Given the description of an element on the screen output the (x, y) to click on. 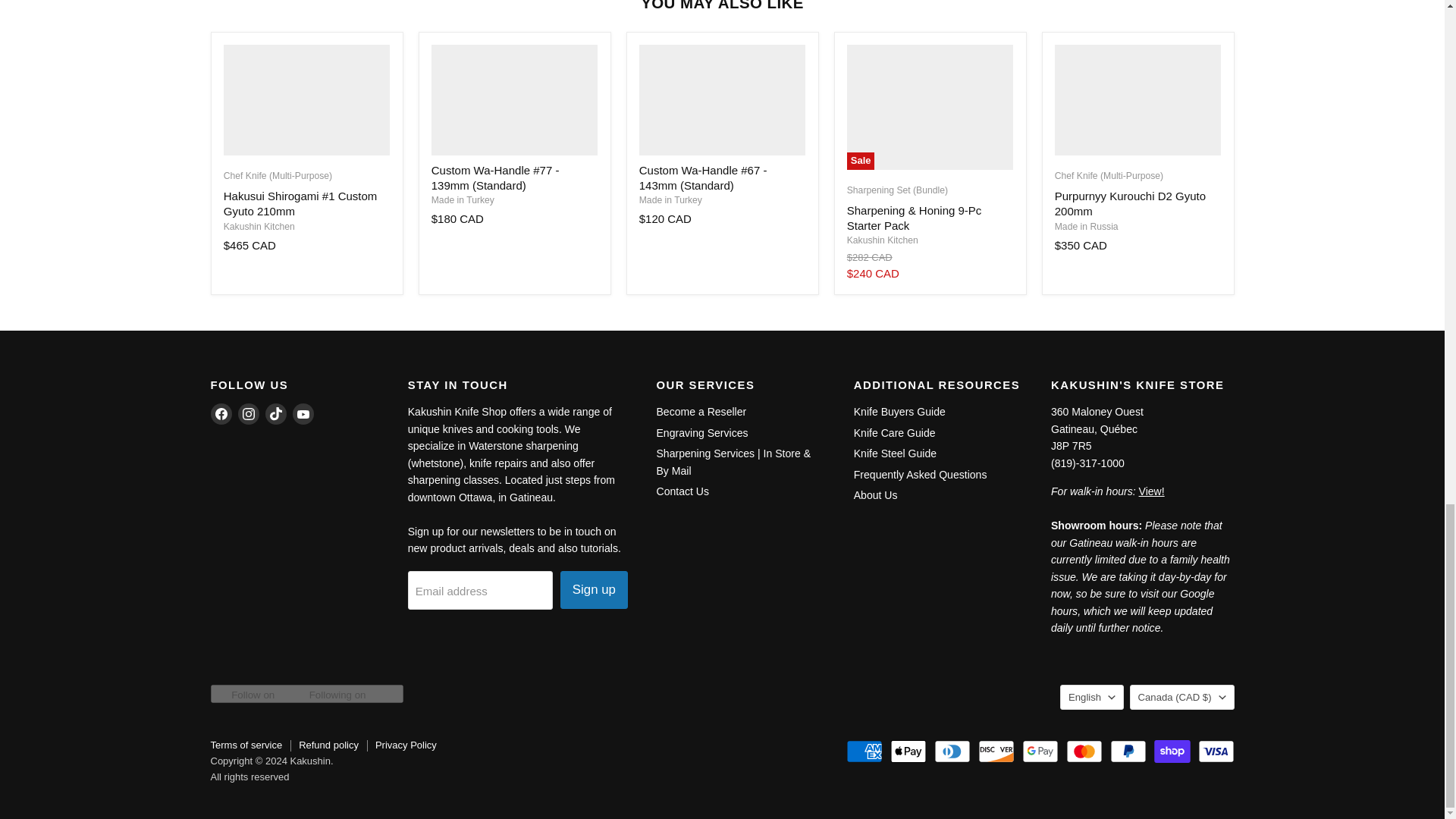
Kakushin Kitchen (259, 226)
Made in Turkey (670, 199)
Made in Turkey (462, 199)
